Given the description of an element on the screen output the (x, y) to click on. 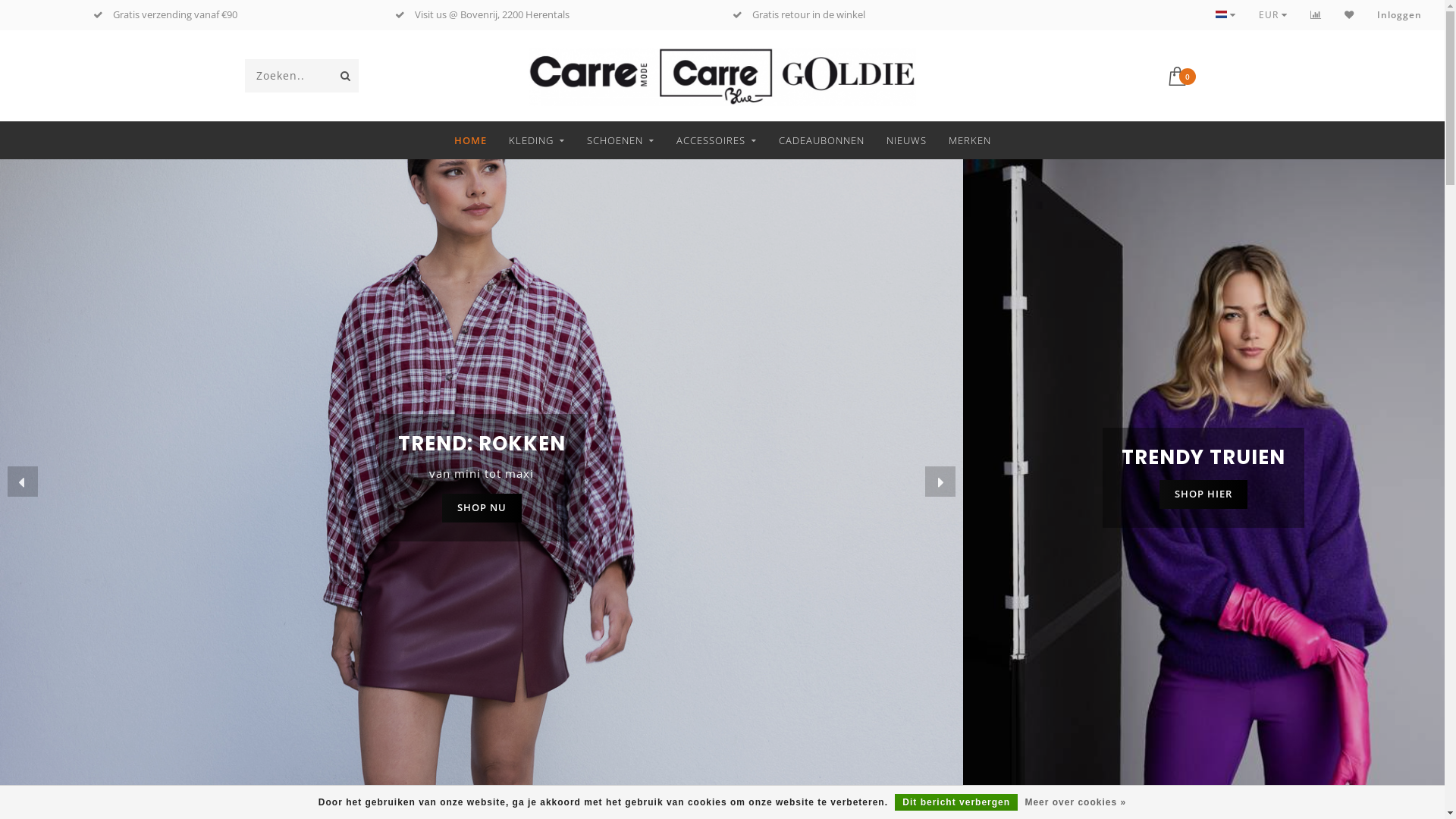
Vergelijk Element type: hover (1315, 14)
EUR Element type: text (1272, 15)
Mijn verlanglijst Element type: hover (1349, 14)
SHOP HIER Element type: text (1203, 494)
SCHOENEN Element type: text (620, 140)
ACCESSOIRES Element type: text (716, 140)
CADEAUBONNEN Element type: text (820, 140)
HOME Element type: text (469, 140)
Inloggen Element type: text (1399, 14)
MERKEN Element type: text (968, 140)
Dit bericht verbergen Element type: text (955, 801)
NIEUWS Element type: text (905, 140)
0 Element type: text (1183, 73)
KLEDING Element type: text (536, 140)
SHOP NU Element type: text (480, 507)
